Given the description of an element on the screen output the (x, y) to click on. 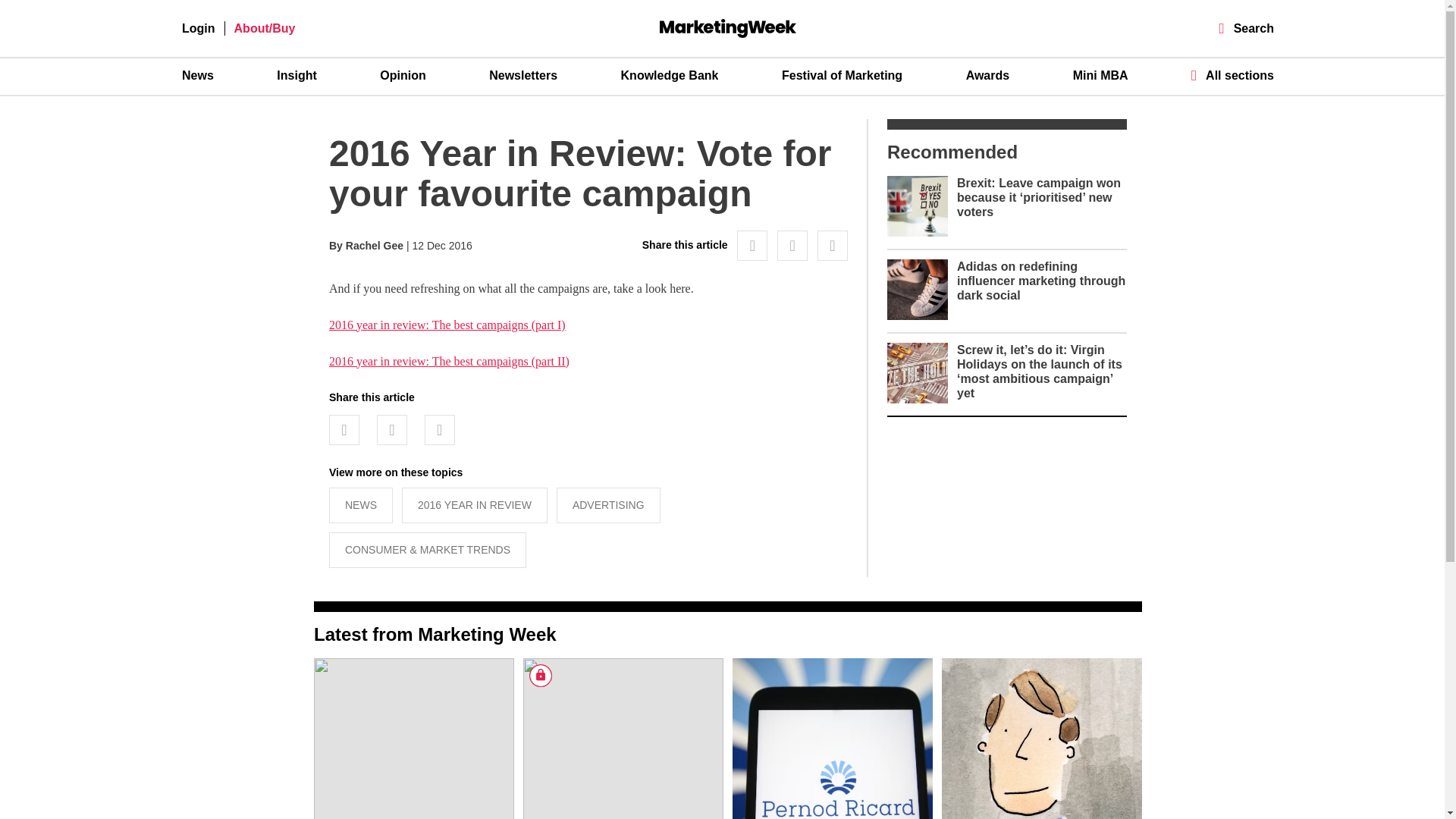
Mini MBA (1100, 75)
Search (1247, 28)
Opinion (402, 75)
NEWS (361, 505)
Rachel Gee (374, 245)
Newsletters (523, 75)
Insight (295, 75)
Awards (988, 75)
2016 YEAR IN REVIEW (474, 505)
